Given the description of an element on the screen output the (x, y) to click on. 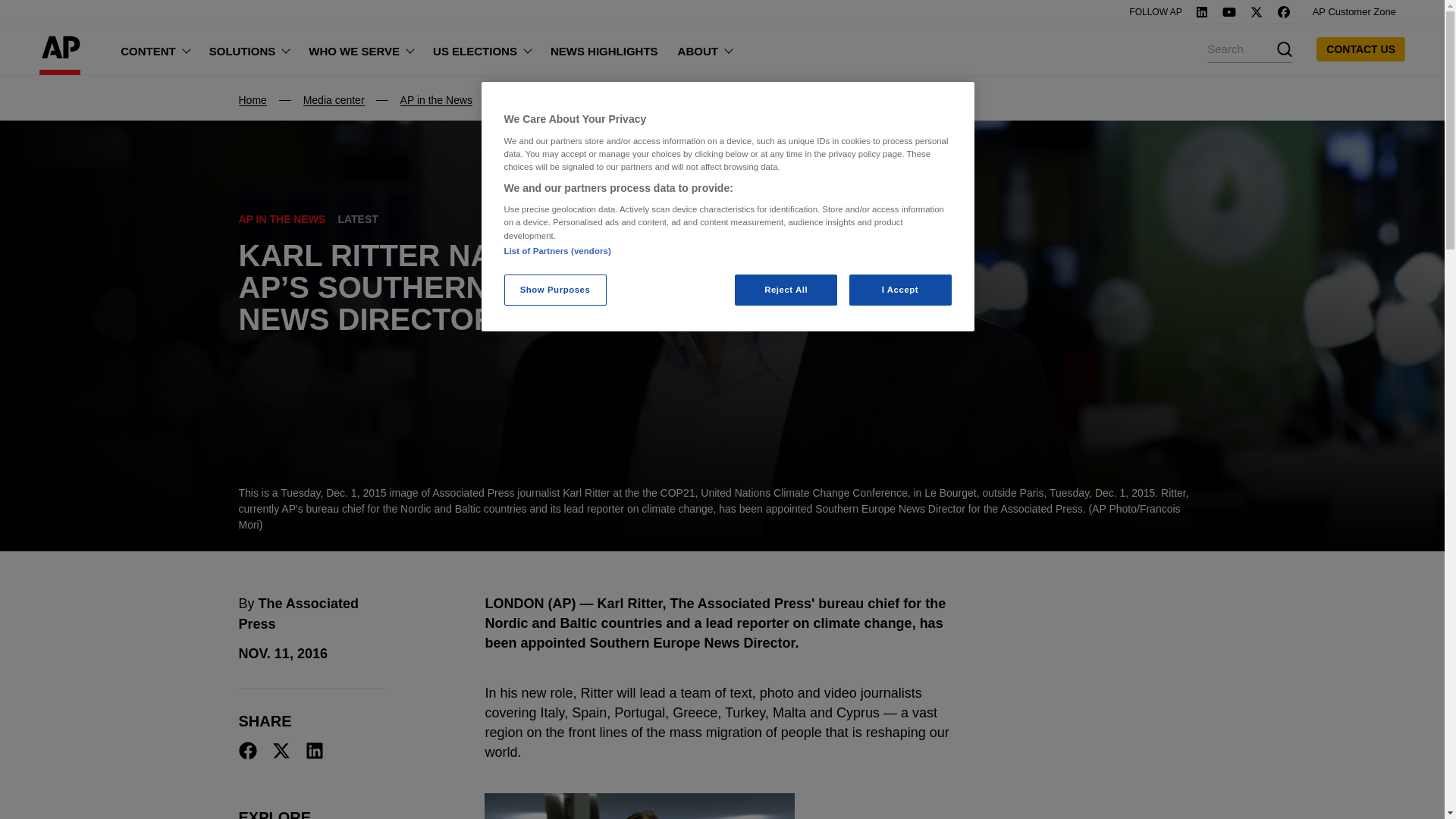
Youtube (1228, 11)
Share on Twitter (279, 751)
Linkedin (1201, 11)
Facebook (1283, 11)
SOLUTIONS (249, 49)
CONTENT (154, 49)
Share on Facebook (247, 751)
Share on LinkedIn (313, 751)
Twitter (1256, 11)
AP Customer Zone (1354, 11)
